Given the description of an element on the screen output the (x, y) to click on. 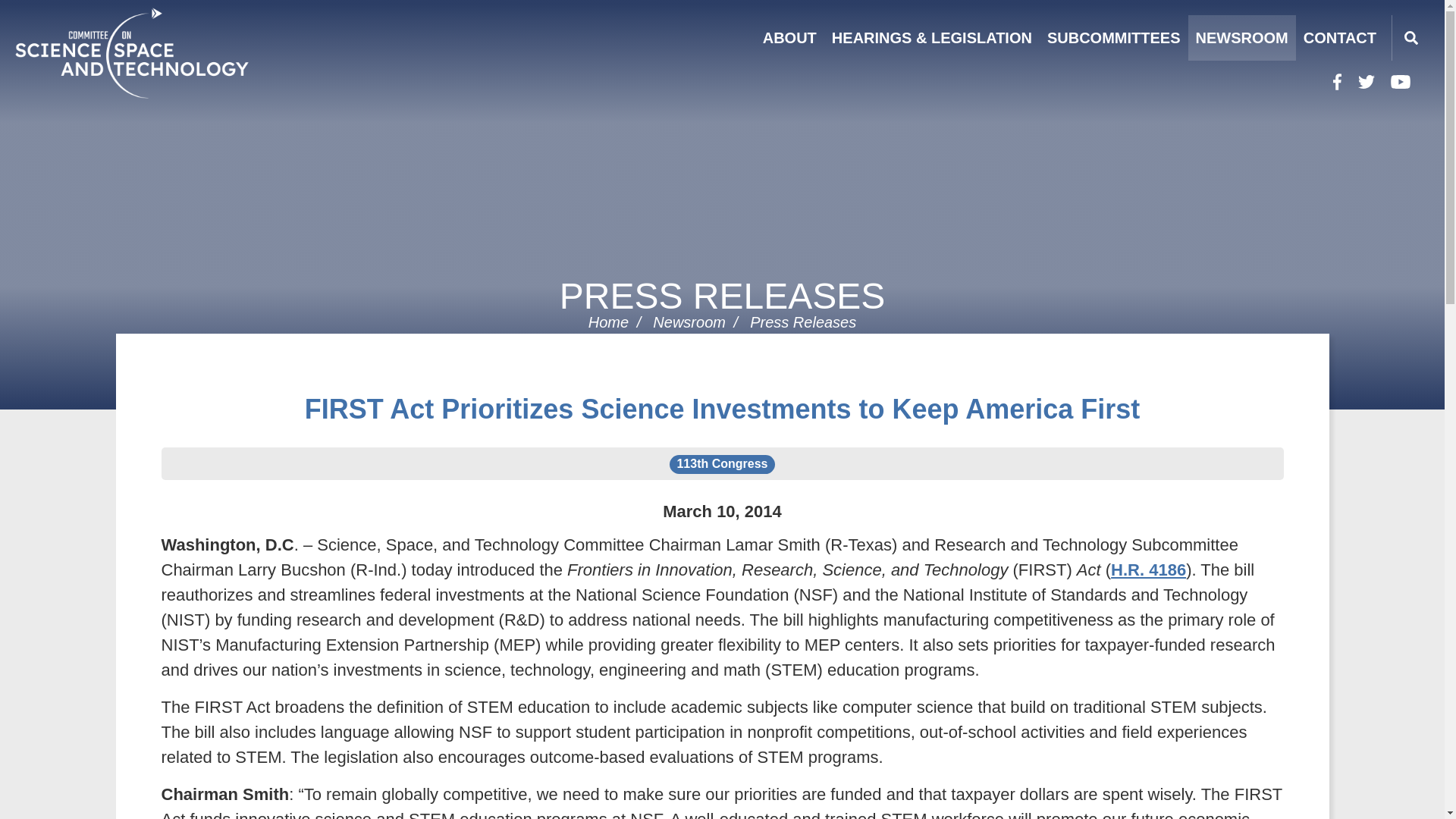
ABOUT (789, 37)
CONTACT (1339, 37)
Search (1410, 37)
Home (170, 52)
NEWSROOM (1241, 37)
Facebook (1337, 81)
SUBCOMMITTEES (1113, 37)
